Given the description of an element on the screen output the (x, y) to click on. 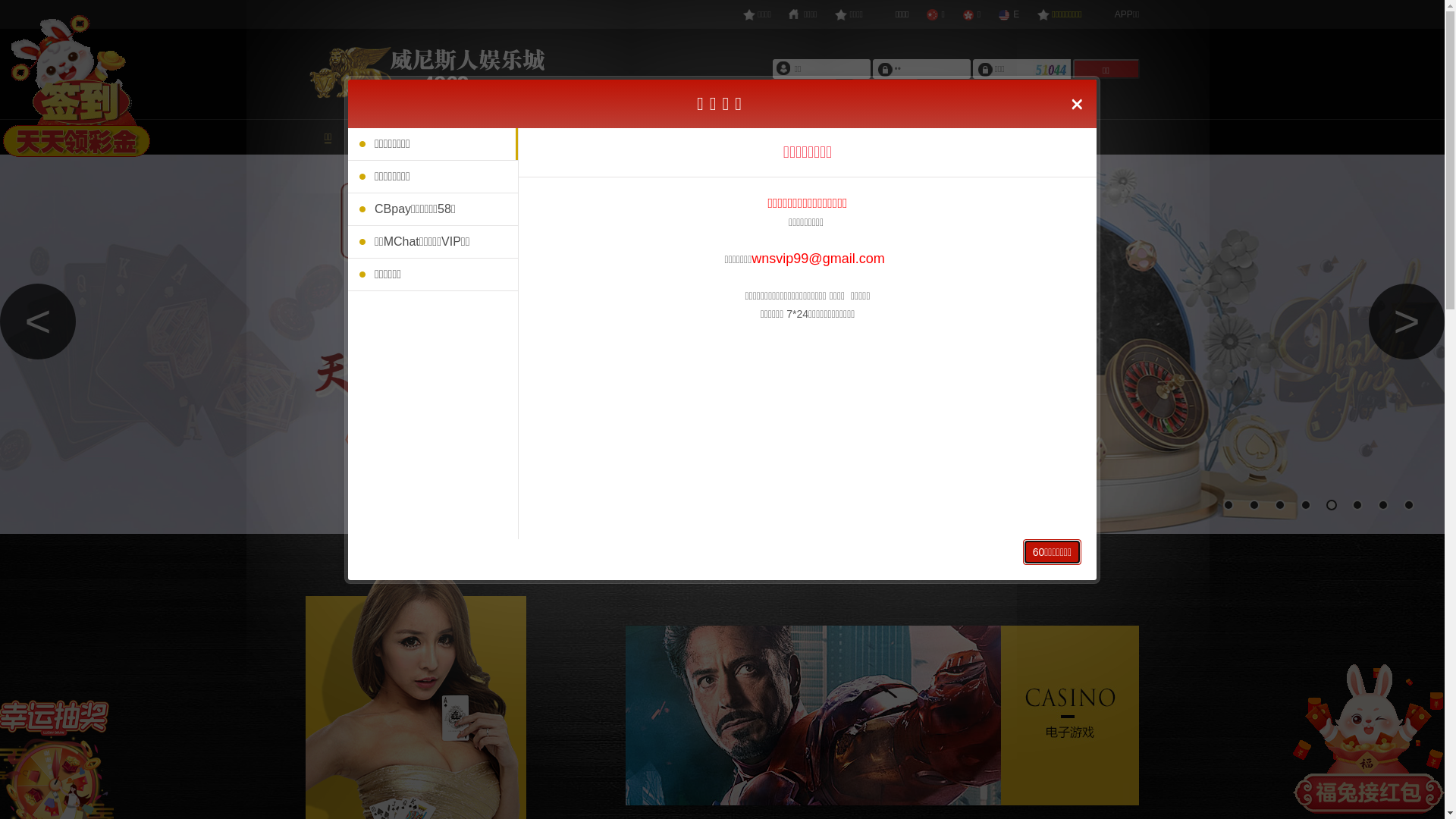
E Element type: text (1008, 14)
< Element type: text (37, 321)
> Element type: text (1406, 321)
